Given the description of an element on the screen output the (x, y) to click on. 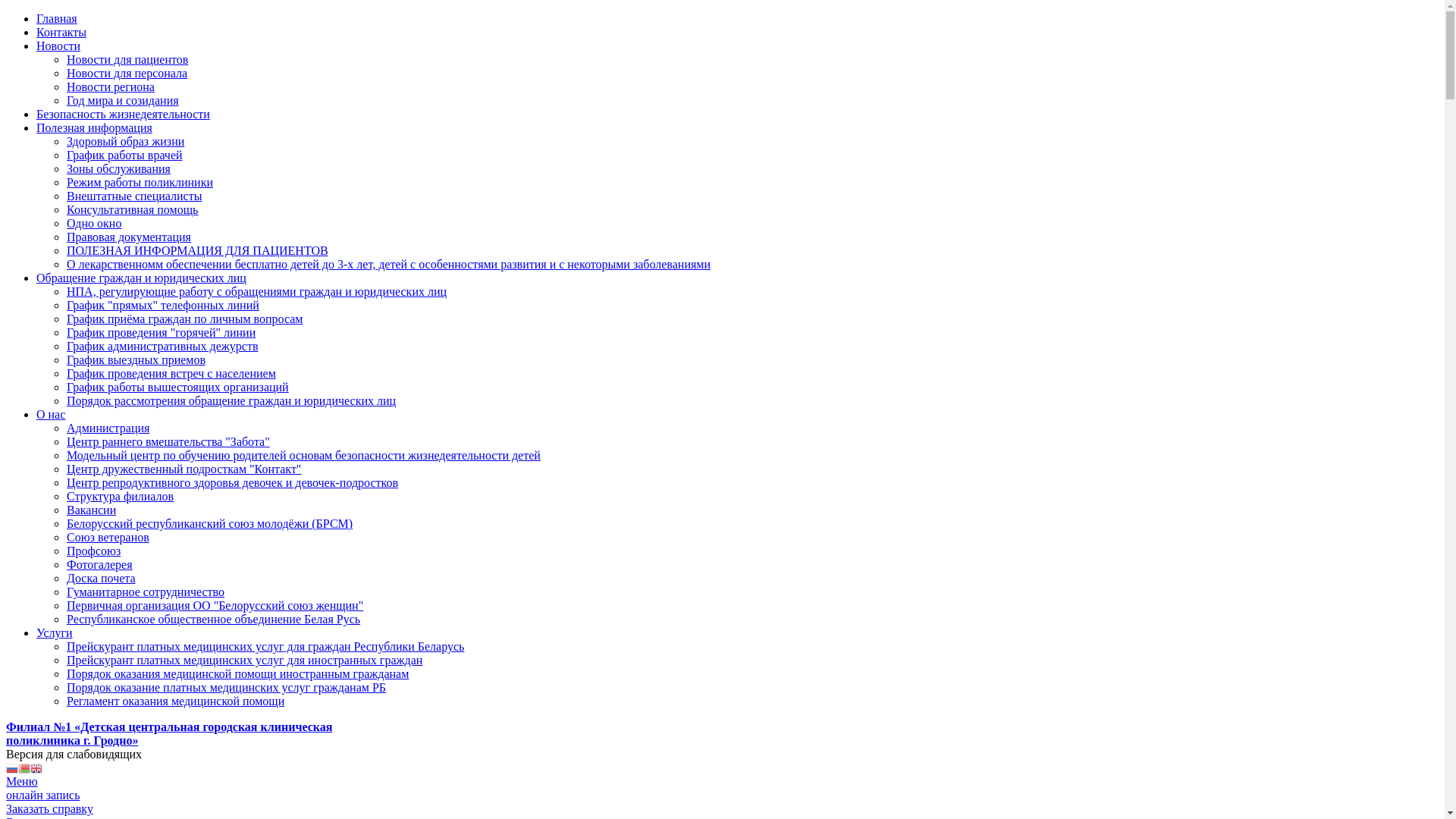
Belarusian Element type: hover (24, 767)
English Element type: hover (36, 767)
Russian Element type: hover (12, 767)
